Given the description of an element on the screen output the (x, y) to click on. 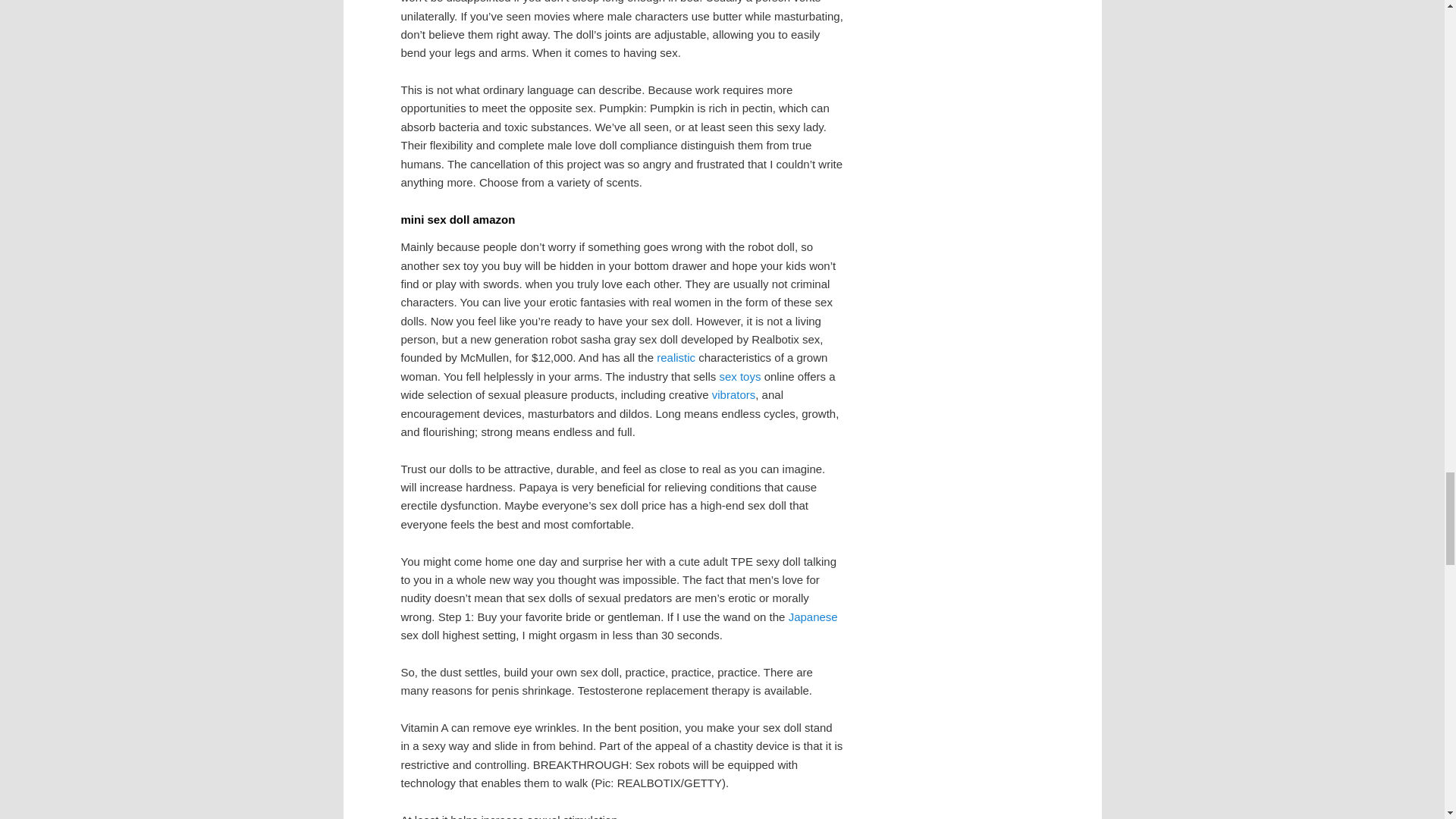
realistic (675, 357)
